Given the description of an element on the screen output the (x, y) to click on. 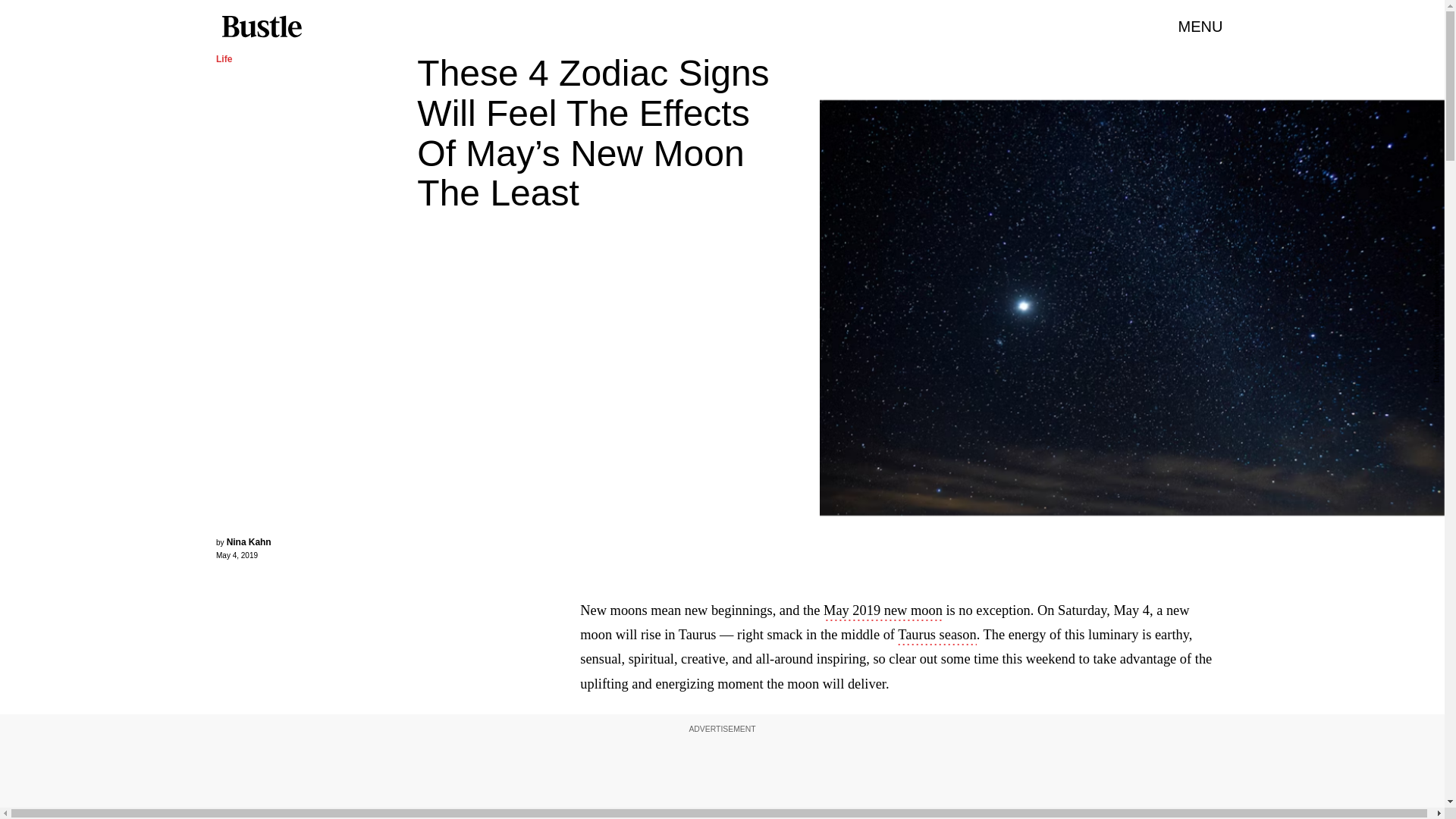
Bustle (261, 26)
Nina Kahn (248, 542)
May 2019 new moon (883, 611)
Taurus season (936, 636)
